Given the description of an element on the screen output the (x, y) to click on. 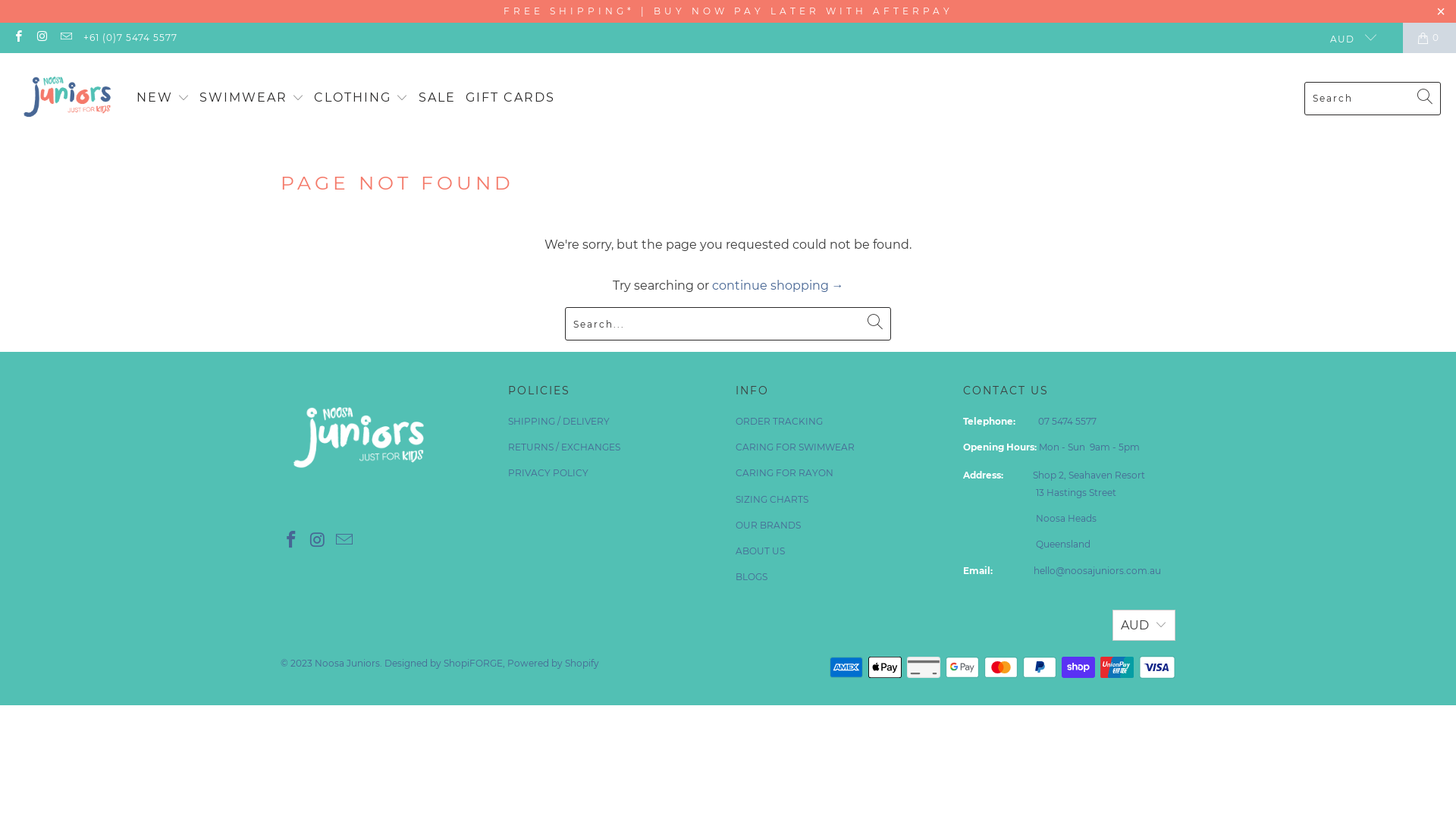
SALE Element type: text (436, 97)
OUR BRANDS Element type: text (767, 524)
GIFT CARDS Element type: text (510, 97)
AUD Element type: text (1143, 624)
ORDER TRACKING Element type: text (778, 420)
SHIPPING / DELIVERY Element type: text (558, 420)
ABOUT US Element type: text (759, 550)
SIZING CHARTS Element type: text (771, 499)
+61 (0)7 5474 5577 Element type: text (130, 37)
CARING FOR RAYON Element type: text (784, 472)
Email Noosa Juniors Element type: hover (65, 37)
Noosa Juniors Element type: text (346, 662)
BLOGS Element type: text (751, 576)
Noosa Juniors on Facebook Element type: hover (291, 540)
Noosa Juniors on Facebook Element type: hover (17, 37)
Email Noosa Juniors Element type: hover (343, 540)
RETURNS / EXCHANGES Element type: text (564, 446)
Noosa Juniors on Instagram Element type: hover (318, 540)
AUD Element type: text (1346, 37)
Noosa Juniors Element type: hover (68, 97)
Powered by Shopify Element type: text (553, 662)
PRIVACY POLICY Element type: text (548, 472)
Noosa Juniors on Instagram Element type: hover (40, 37)
CARING FOR SWIMWEAR Element type: text (794, 446)
